Given the description of an element on the screen output the (x, y) to click on. 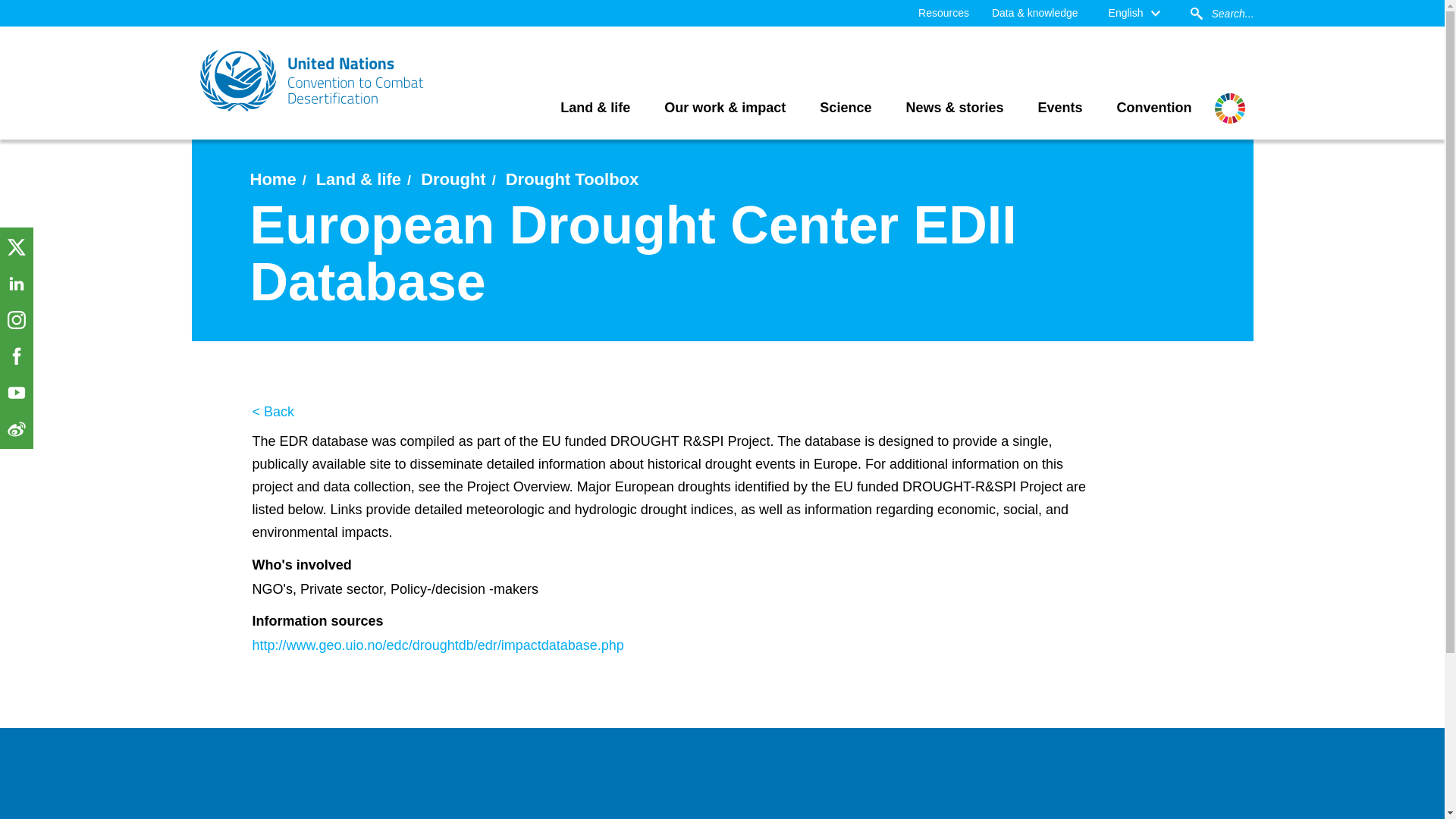
Convention (1154, 108)
Home (273, 179)
Drought Toolbox (572, 179)
Science (845, 108)
UNCCD (312, 80)
Resources (943, 12)
Drought (453, 179)
Events (1059, 108)
English (1133, 12)
